Given the description of an element on the screen output the (x, y) to click on. 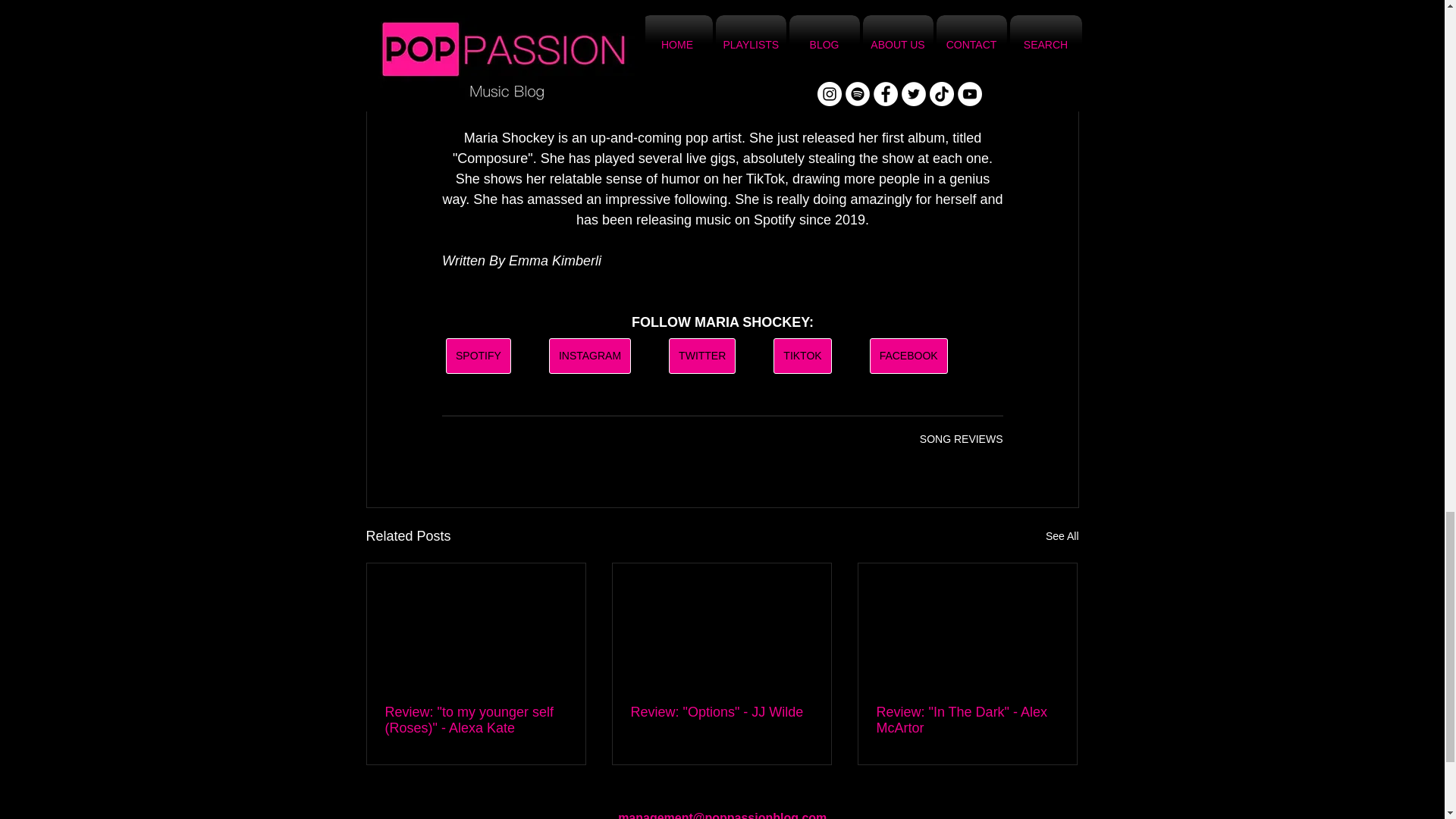
See All (1061, 536)
Review: "Options" - JJ Wilde (721, 712)
Review: "In The Dark" - Alex McArtor (967, 720)
TWITTER (701, 355)
FACEBOOK (908, 355)
TIKTOK (802, 355)
INSTAGRAM (589, 355)
SPOTIFY (478, 355)
SONG REVIEWS (961, 439)
